Given the description of an element on the screen output the (x, y) to click on. 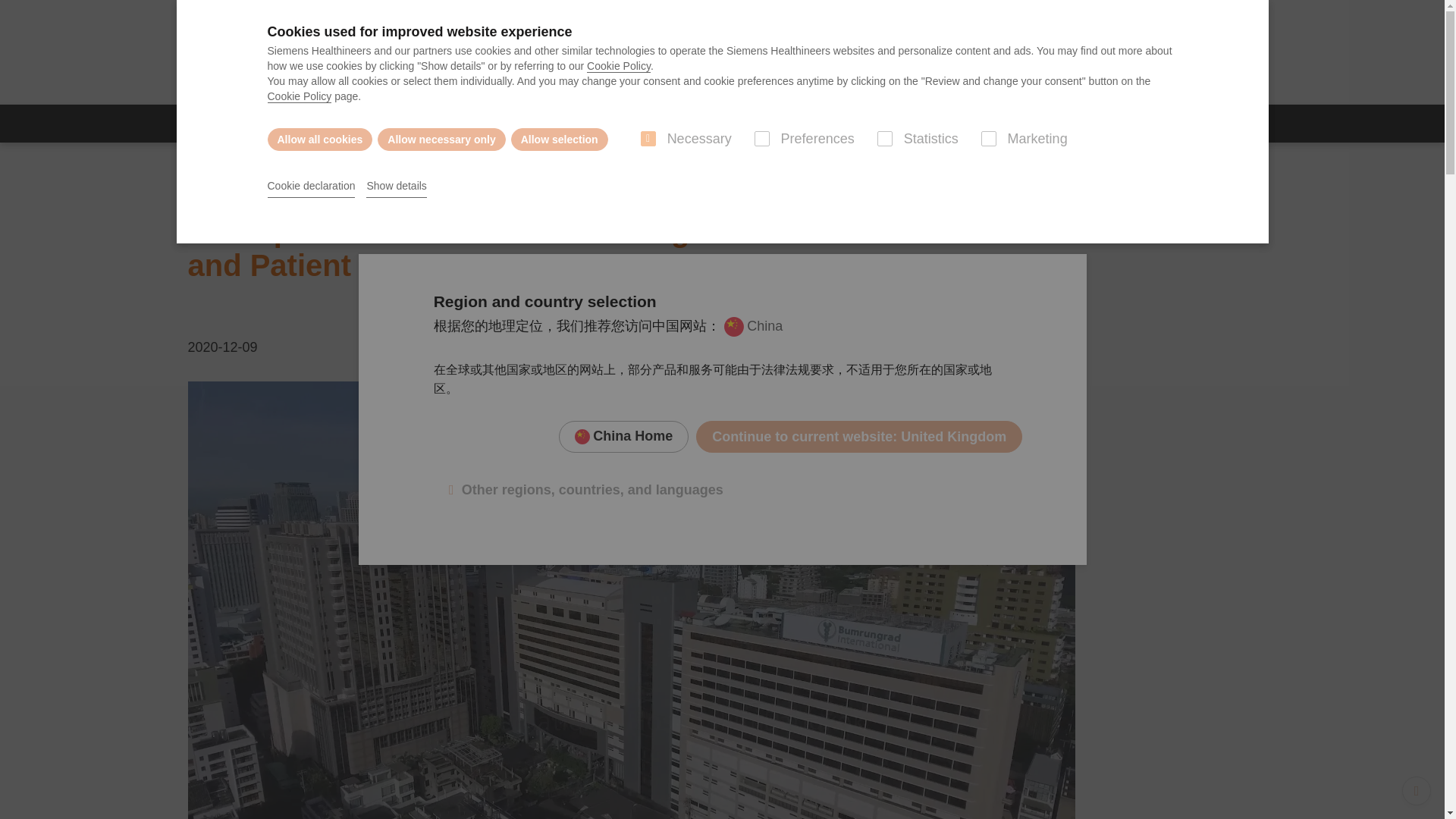
Cookie Policy (618, 65)
Cookie Policy (298, 96)
Cookie declaration (310, 186)
Allow all cookies (319, 138)
Allow necessary only (441, 138)
Allow selection (559, 138)
Show details (396, 186)
